Given the description of an element on the screen output the (x, y) to click on. 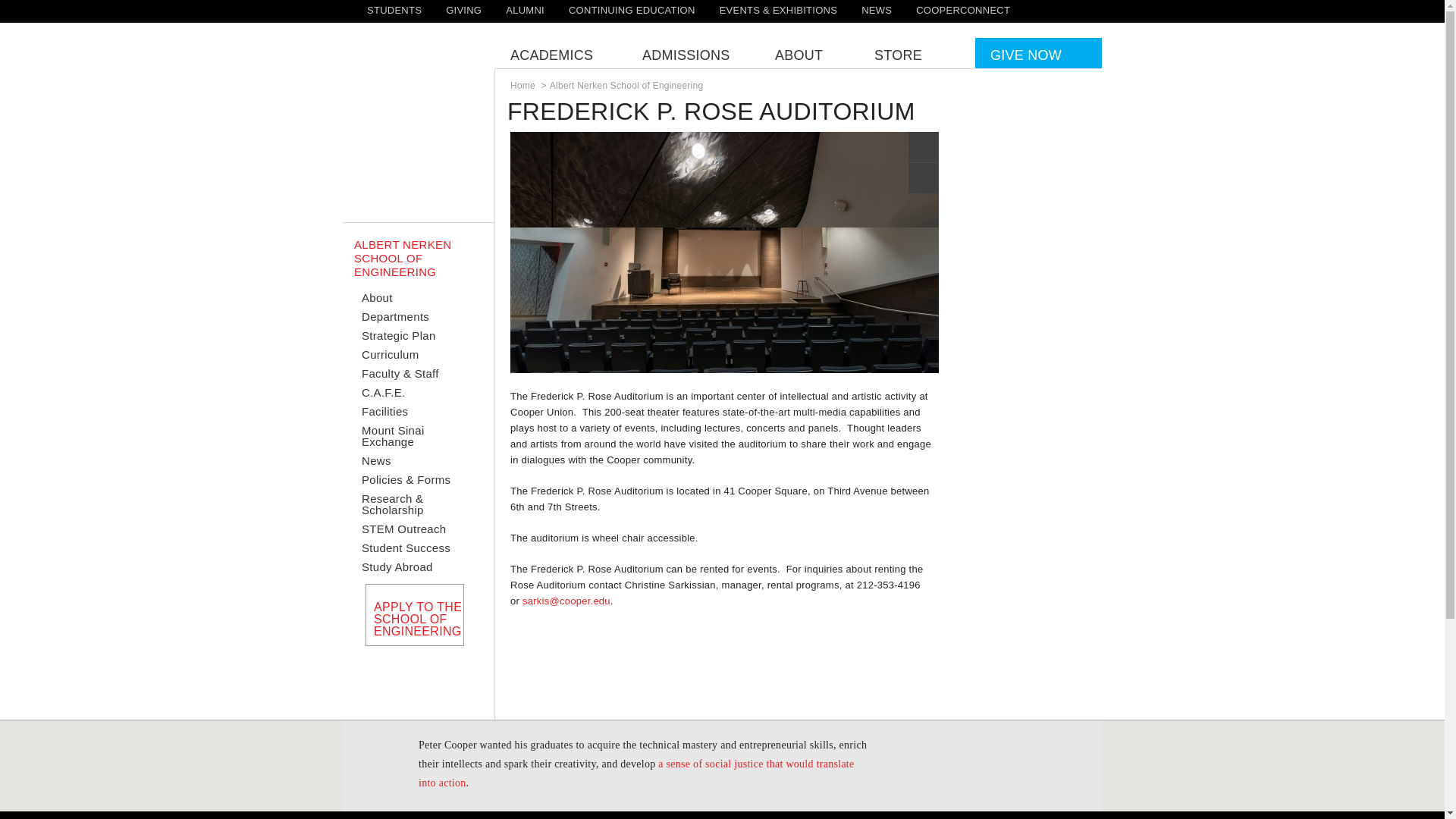
GIVING (463, 9)
CONTINUING EDUCATION (632, 9)
ALUMNI (524, 9)
STUDENTS (394, 9)
NEWS (876, 9)
COOPERCONNECT (962, 9)
